Given the description of an element on the screen output the (x, y) to click on. 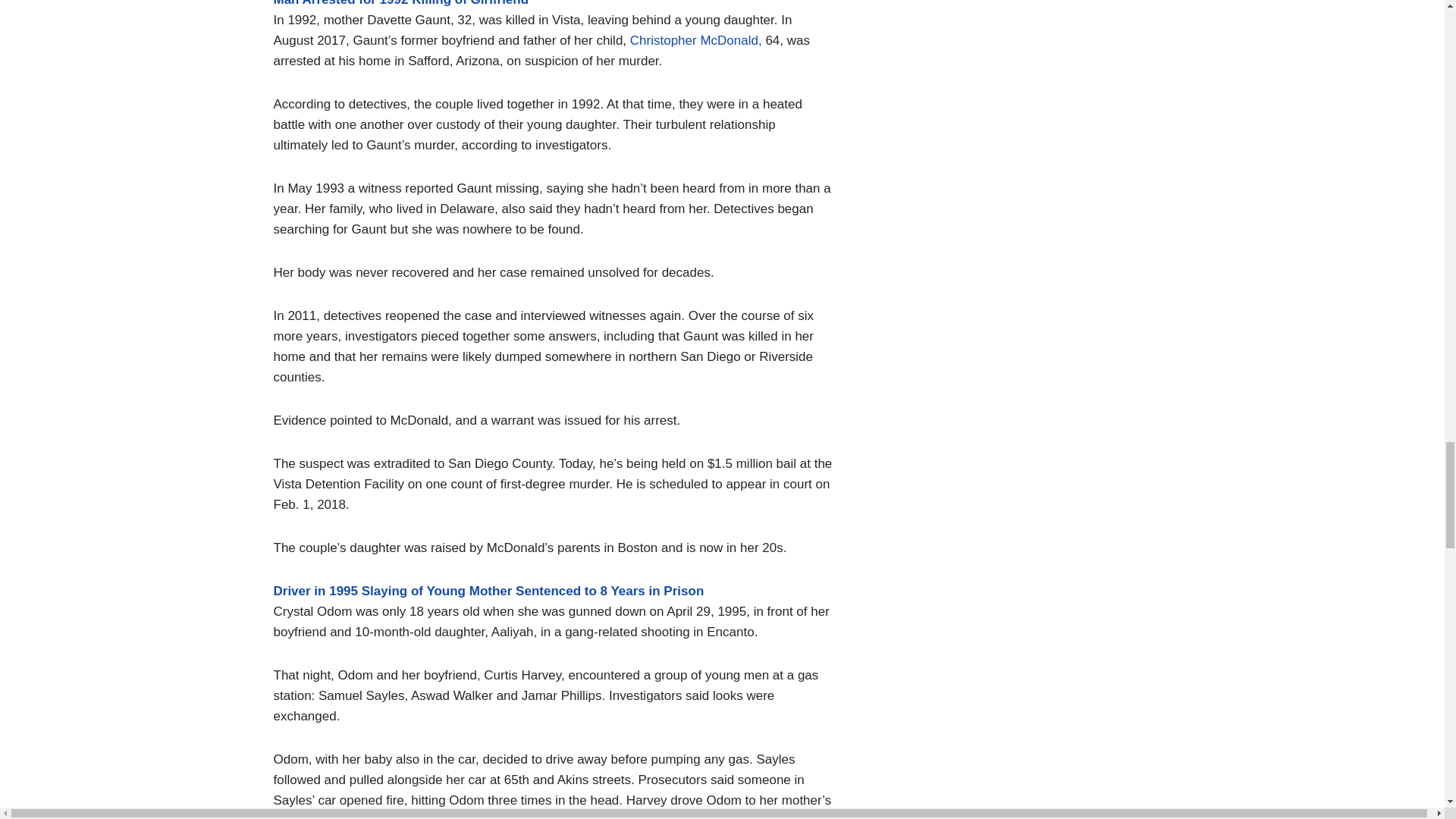
Christopher McDonald, (695, 40)
Man Arrested for 1992 Killing of Girlfriend (400, 3)
